Given the description of an element on the screen output the (x, y) to click on. 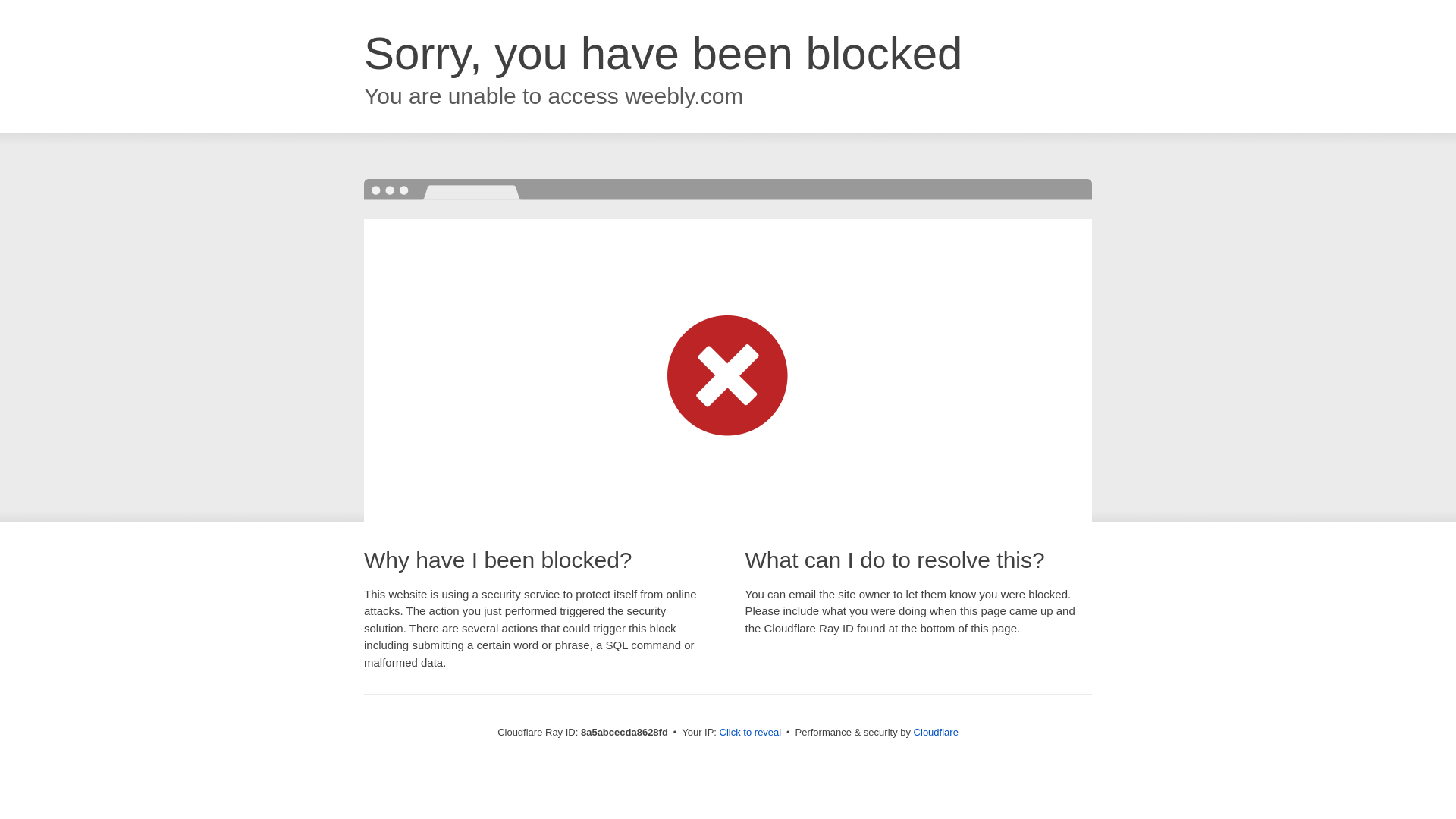
Click to reveal (750, 732)
Cloudflare (936, 731)
